Given the description of an element on the screen output the (x, y) to click on. 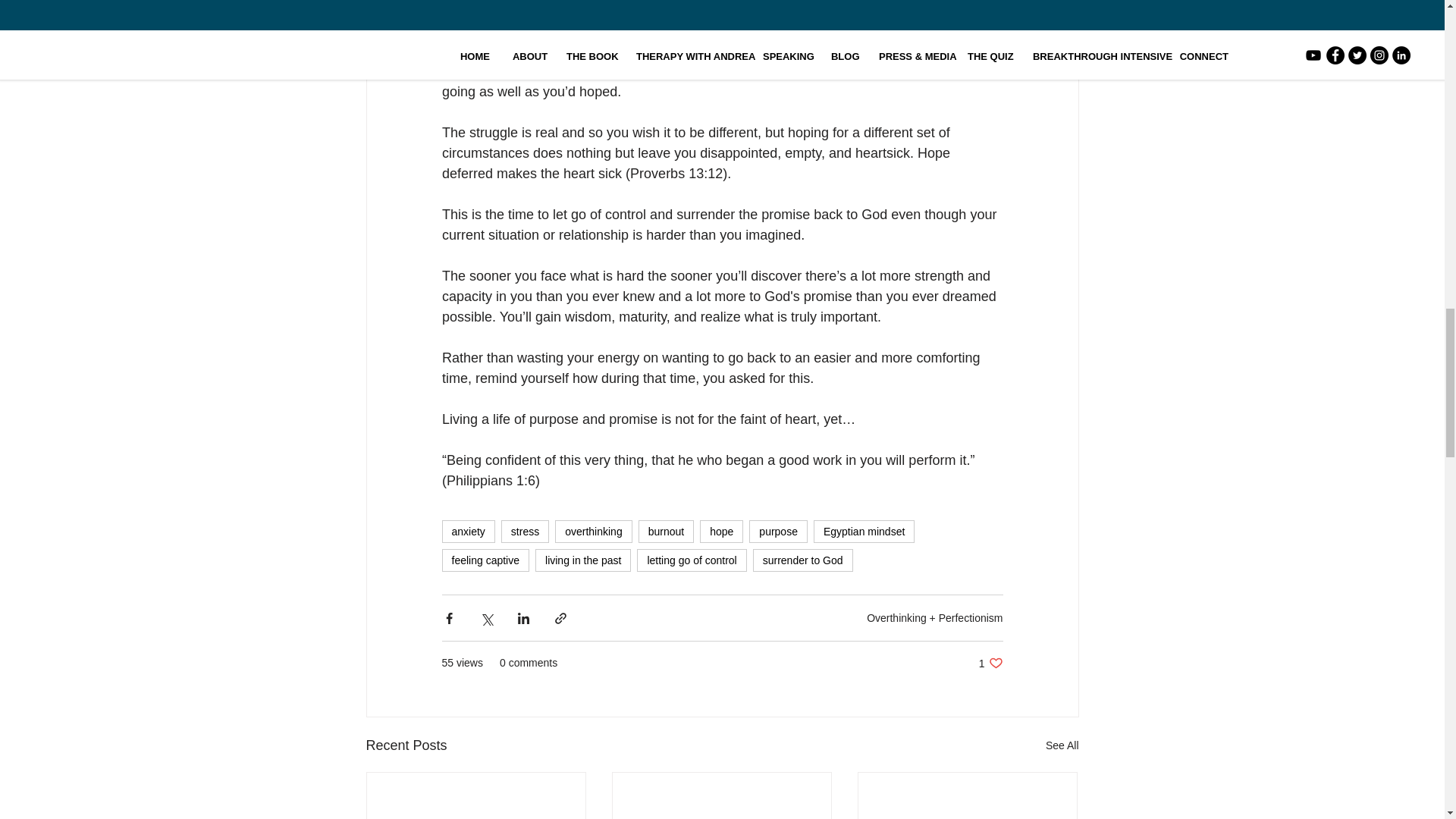
burnout (666, 531)
anxiety (468, 531)
overthinking (592, 531)
stress (524, 531)
